Given the description of an element on the screen output the (x, y) to click on. 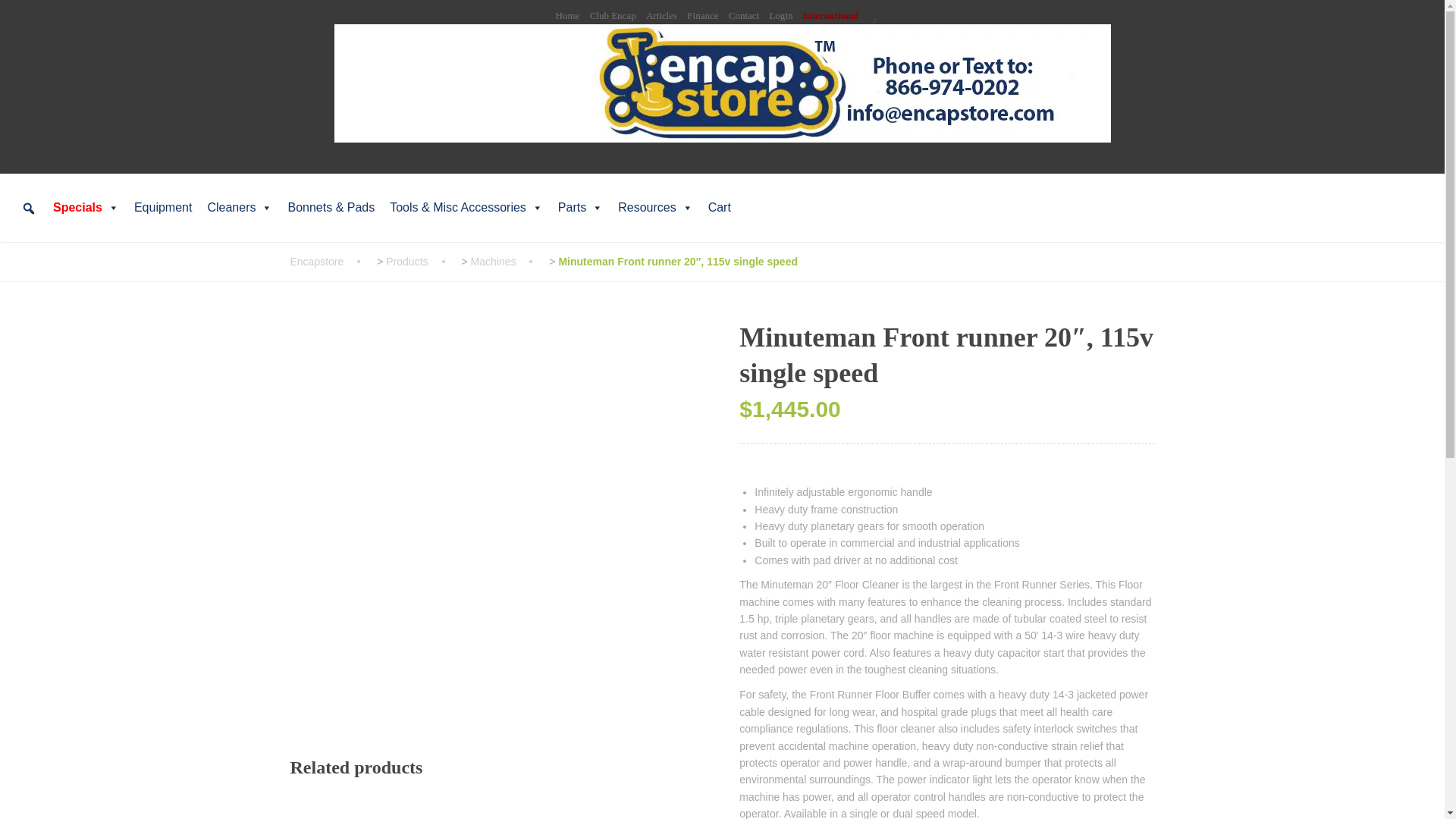
International (831, 15)
Go to Encapstore. (331, 261)
Contact (743, 15)
Specials (85, 207)
Finance (702, 15)
Articles (661, 15)
Equipment (163, 207)
Search (16, 18)
Go to Products. (421, 261)
Club Encap (612, 15)
